Given the description of an element on the screen output the (x, y) to click on. 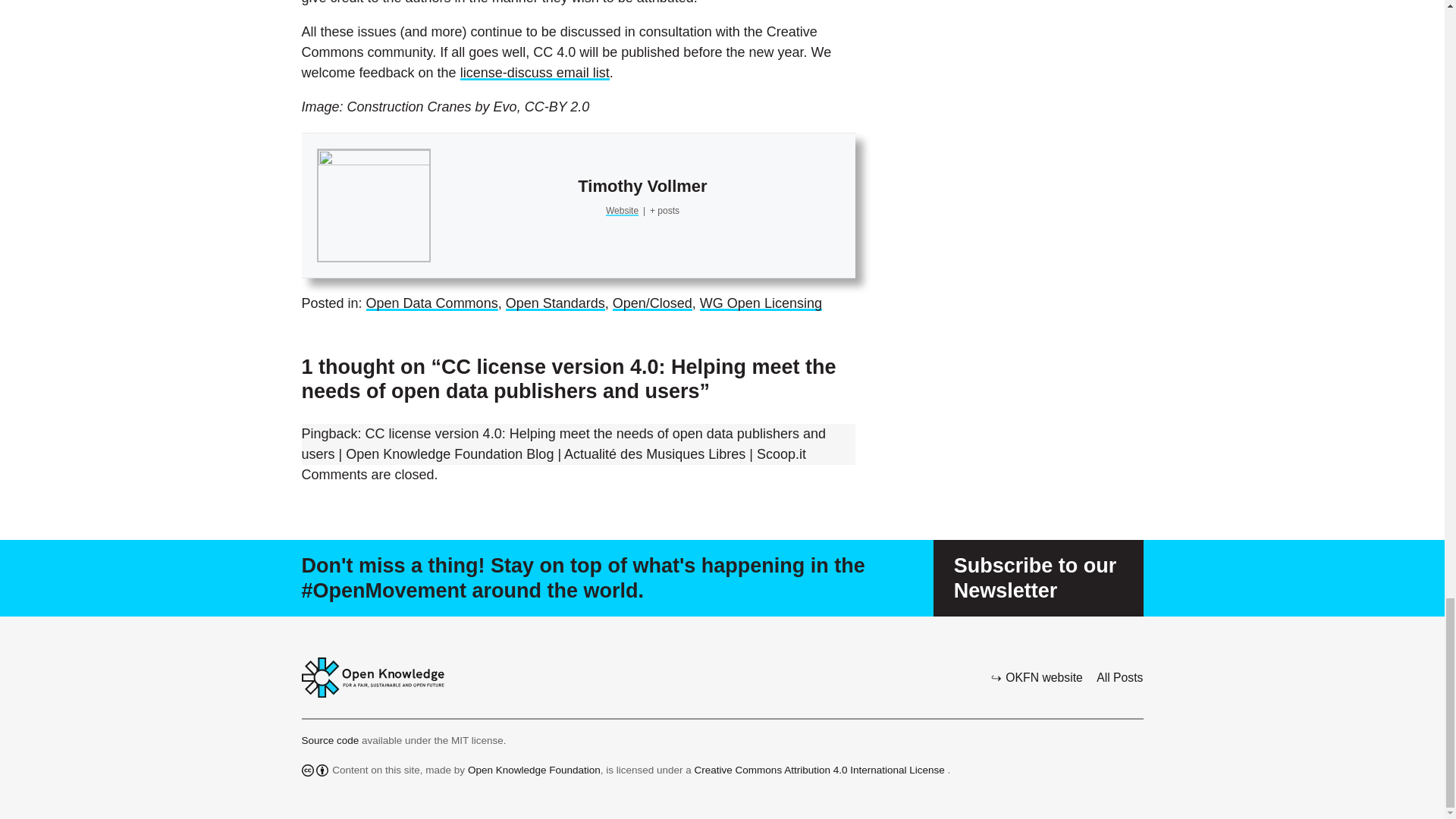
license-discuss email list (535, 72)
WG Open Licensing (761, 303)
Site source code (331, 740)
by (322, 770)
Timothy Vollmer (642, 185)
cc (307, 770)
Website (622, 210)
Open Standards (555, 303)
Open Data Commons (431, 303)
